Given the description of an element on the screen output the (x, y) to click on. 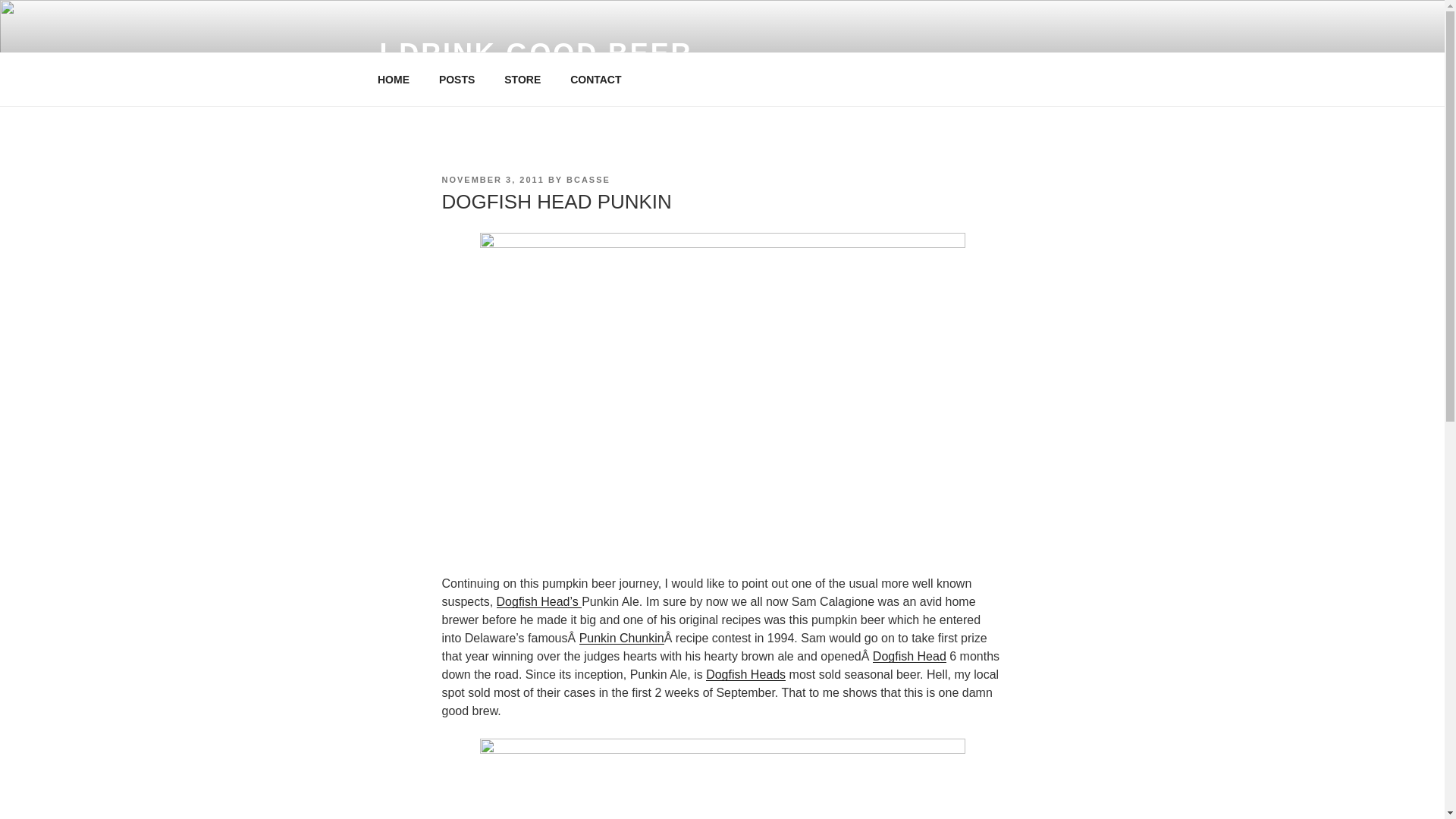
POSTS (456, 78)
NOVEMBER 3, 2011 (492, 179)
HOME (393, 78)
I DRINK GOOD BEER (535, 52)
Dogfish Heads (746, 674)
Punkin Chunkin (621, 637)
BCASSE (588, 179)
CONTACT (595, 78)
STORE (523, 78)
Dogfish Head (909, 656)
